Given the description of an element on the screen output the (x, y) to click on. 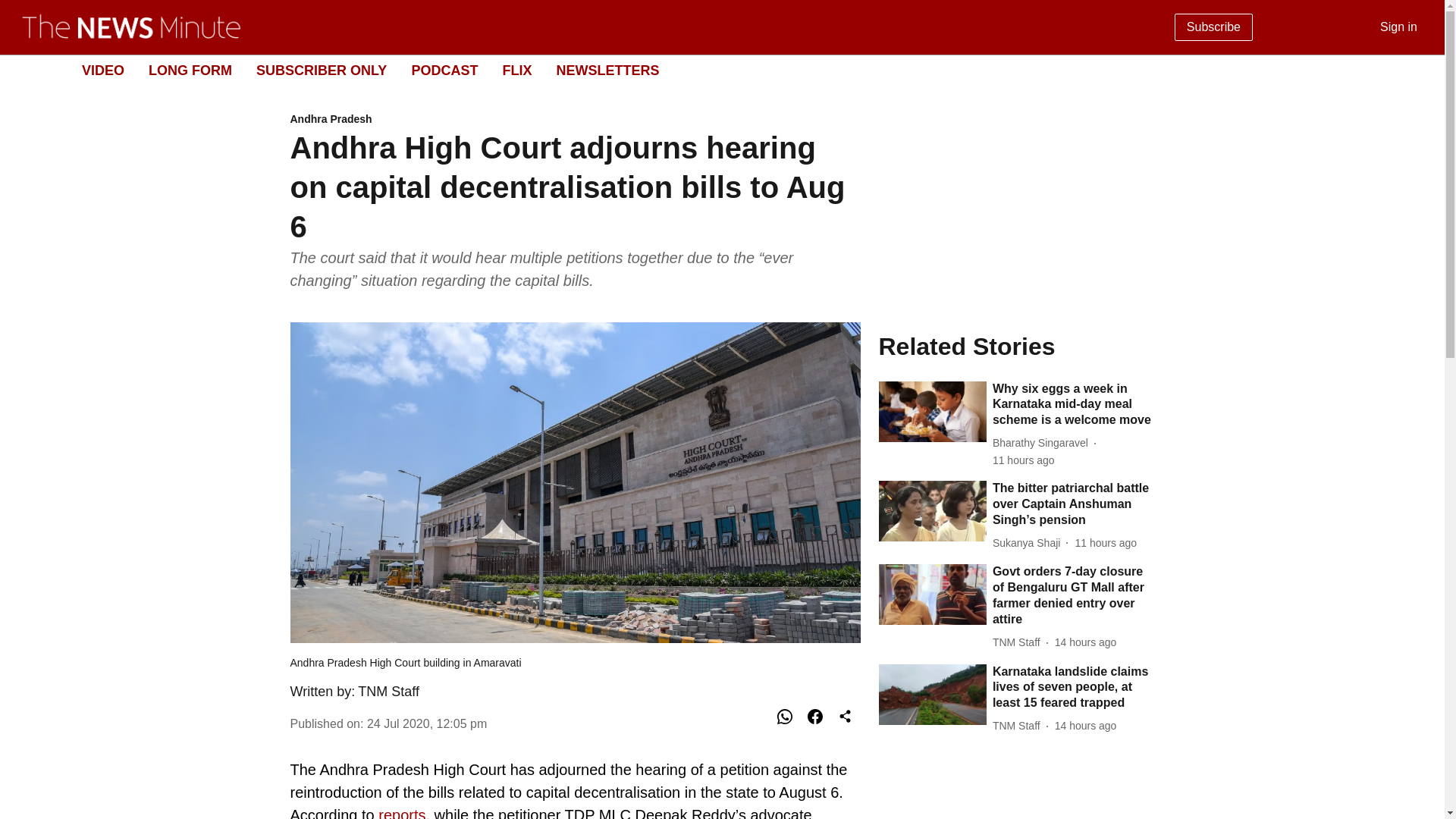
Related Stories (1015, 345)
SUBSCRIBER ONLY (321, 70)
TNM Staff (388, 691)
Dark Mode (1415, 70)
2024-07-18 10:47 (1085, 642)
NEWSLETTERS (607, 70)
2024-07-18 13:37 (1023, 460)
2024-07-18 10:26 (1085, 725)
2024-07-18 13:13 (1105, 543)
TNM Staff (1019, 725)
Andhra Pradesh (574, 119)
Sukanya Shaji (1029, 543)
LONG FORM (189, 70)
